Given the description of an element on the screen output the (x, y) to click on. 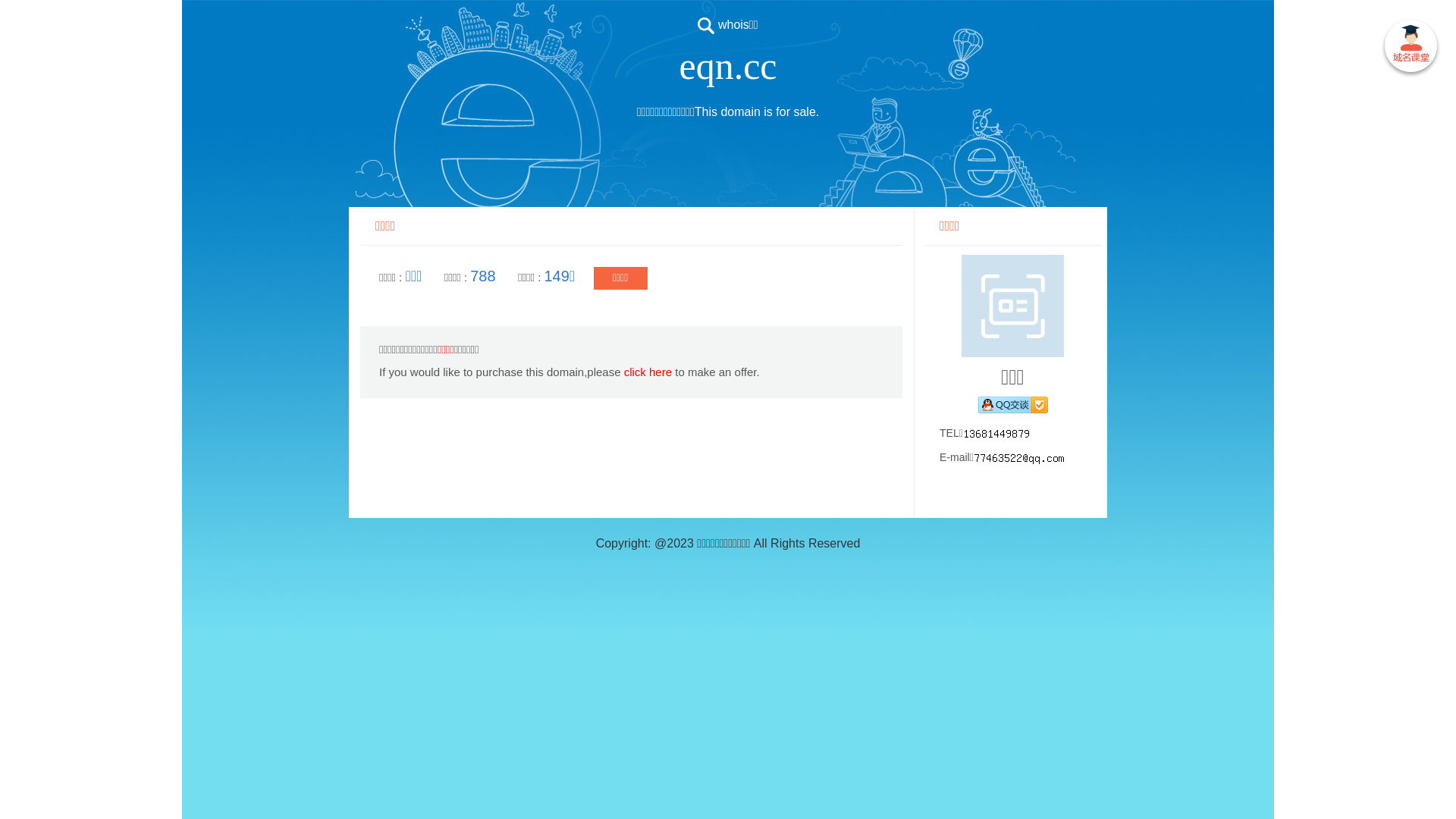
  Element type: text (1410, 48)
click here Element type: text (647, 371)
